Given the description of an element on the screen output the (x, y) to click on. 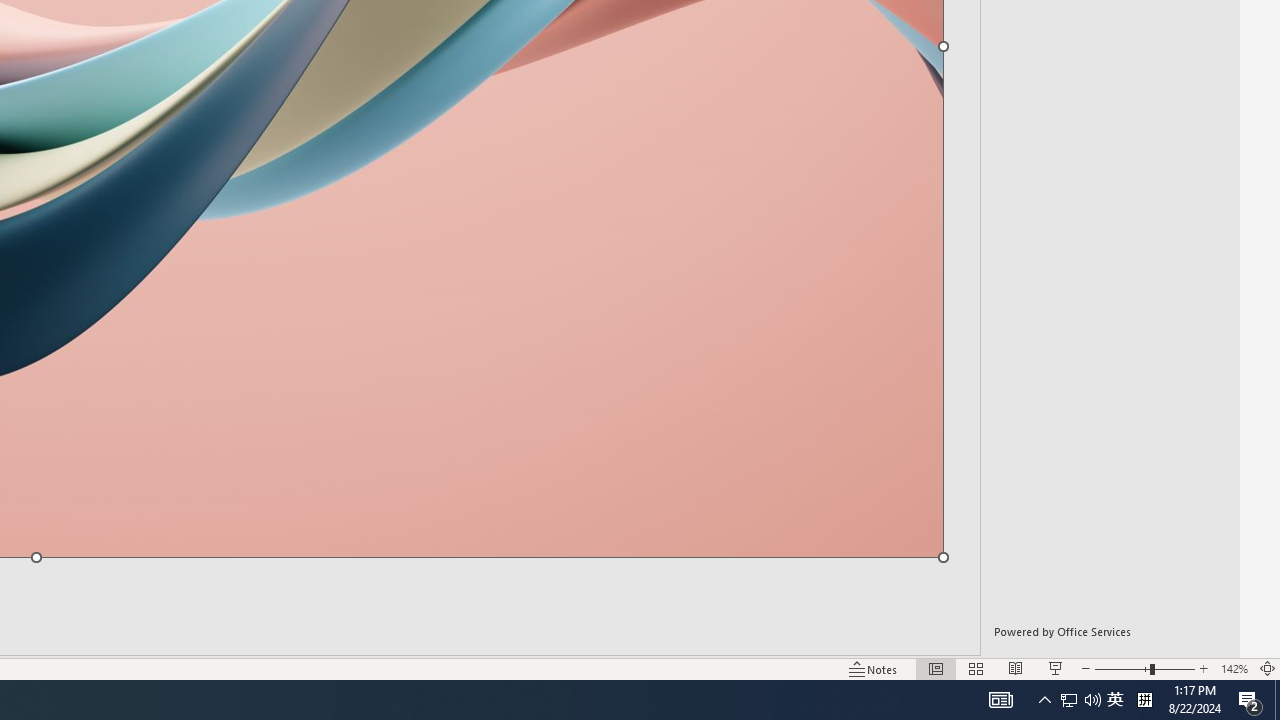
Zoom 142% (1234, 668)
